Given the description of an element on the screen output the (x, y) to click on. 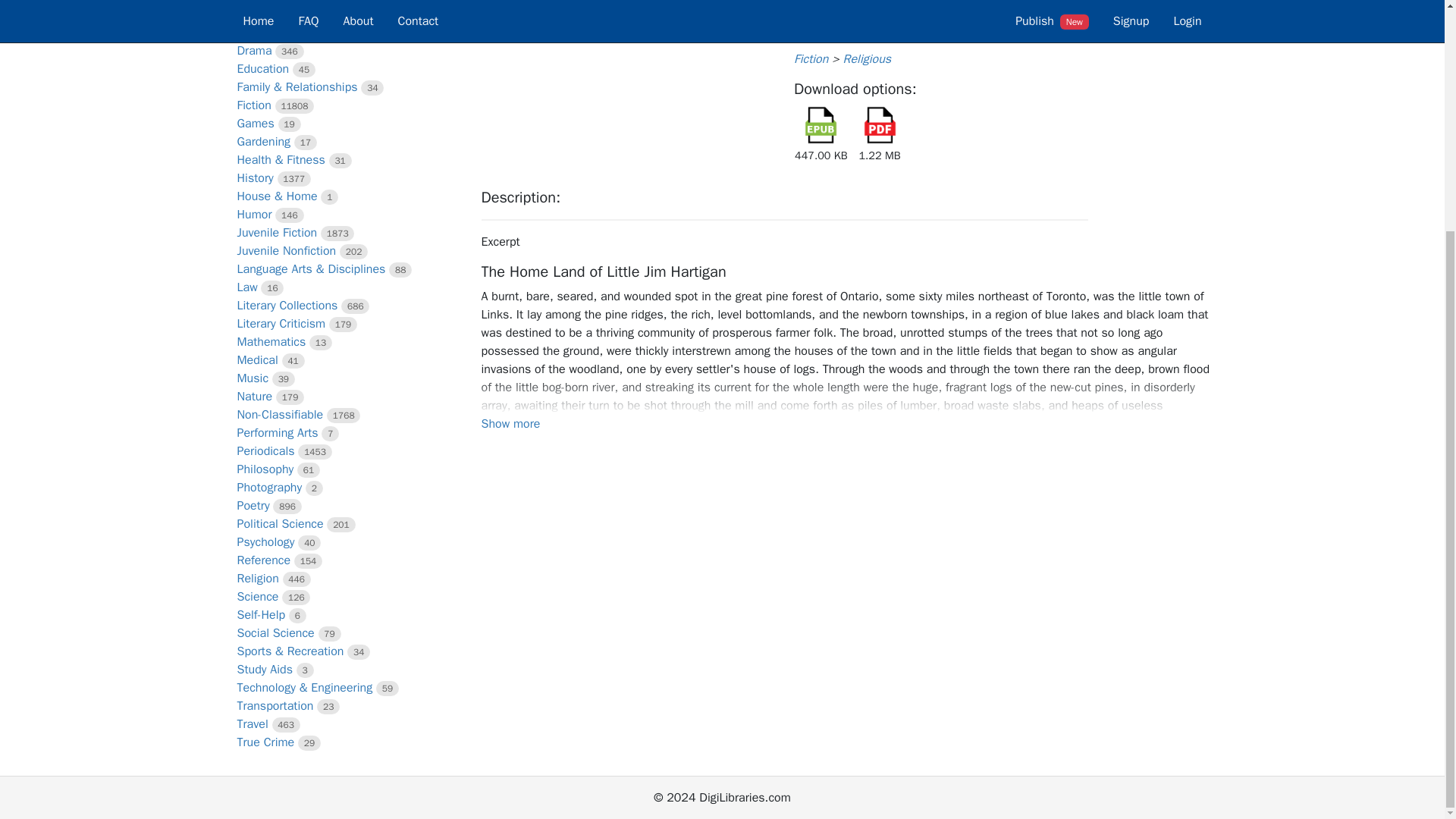
Mathematics (270, 341)
Computers (264, 2)
Literary Criticism (279, 323)
Humor (252, 214)
Fiction (252, 105)
Cooking (257, 14)
History (254, 177)
Drama (252, 50)
Law (246, 287)
Education (261, 68)
Juvenile Nonfiction (285, 250)
Gardening (262, 141)
Medical (256, 359)
Juvenile Fiction (276, 232)
Literary Collections (286, 305)
